Given the description of an element on the screen output the (x, y) to click on. 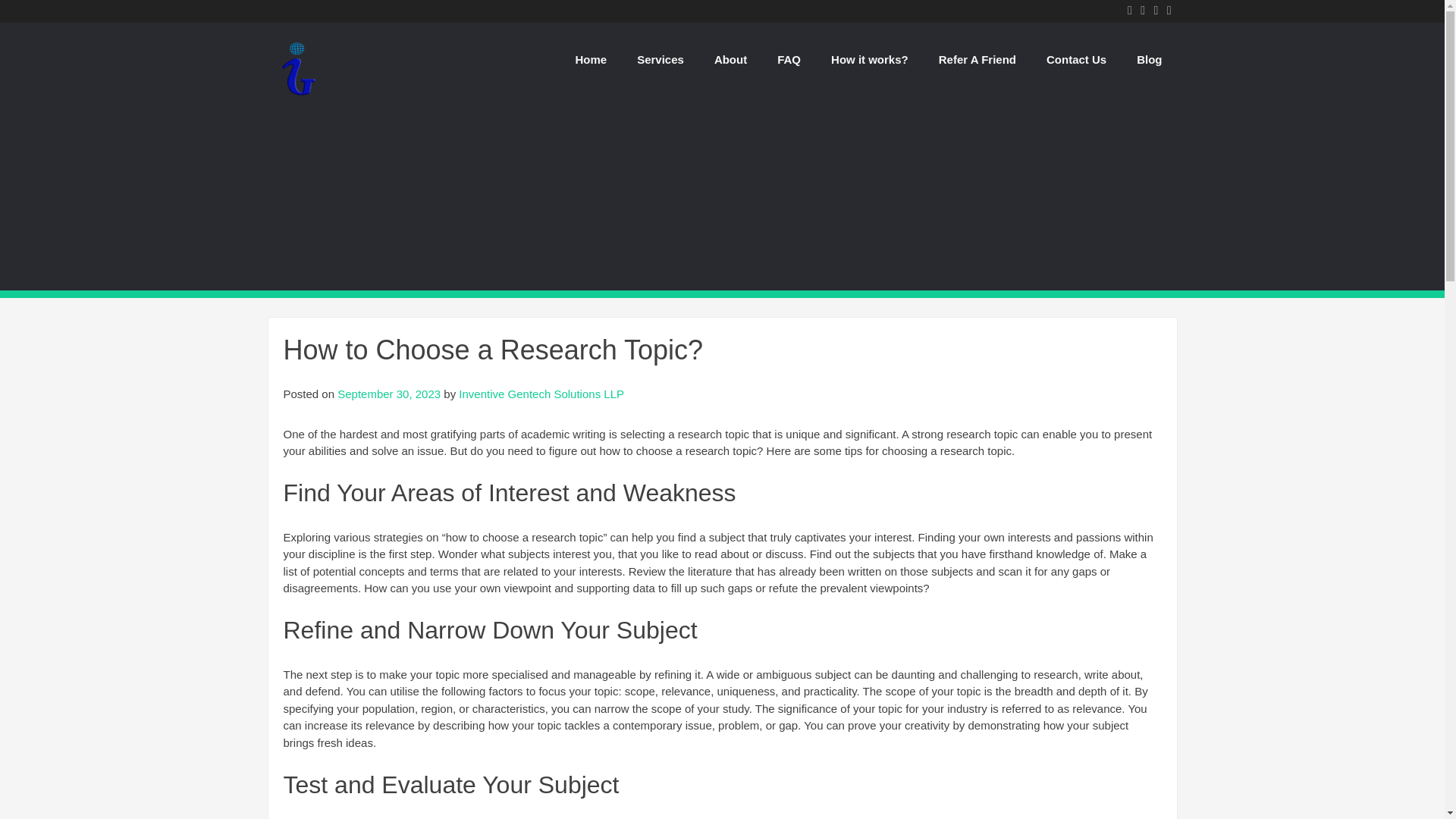
FAQ (788, 59)
Services (659, 59)
Blog (1148, 59)
Contact Us (1075, 59)
Inventive Gentech Solutions LLP (296, 95)
About (729, 59)
Refer A Friend (976, 59)
Home (590, 59)
How it works? (869, 59)
